Given the description of an element on the screen output the (x, y) to click on. 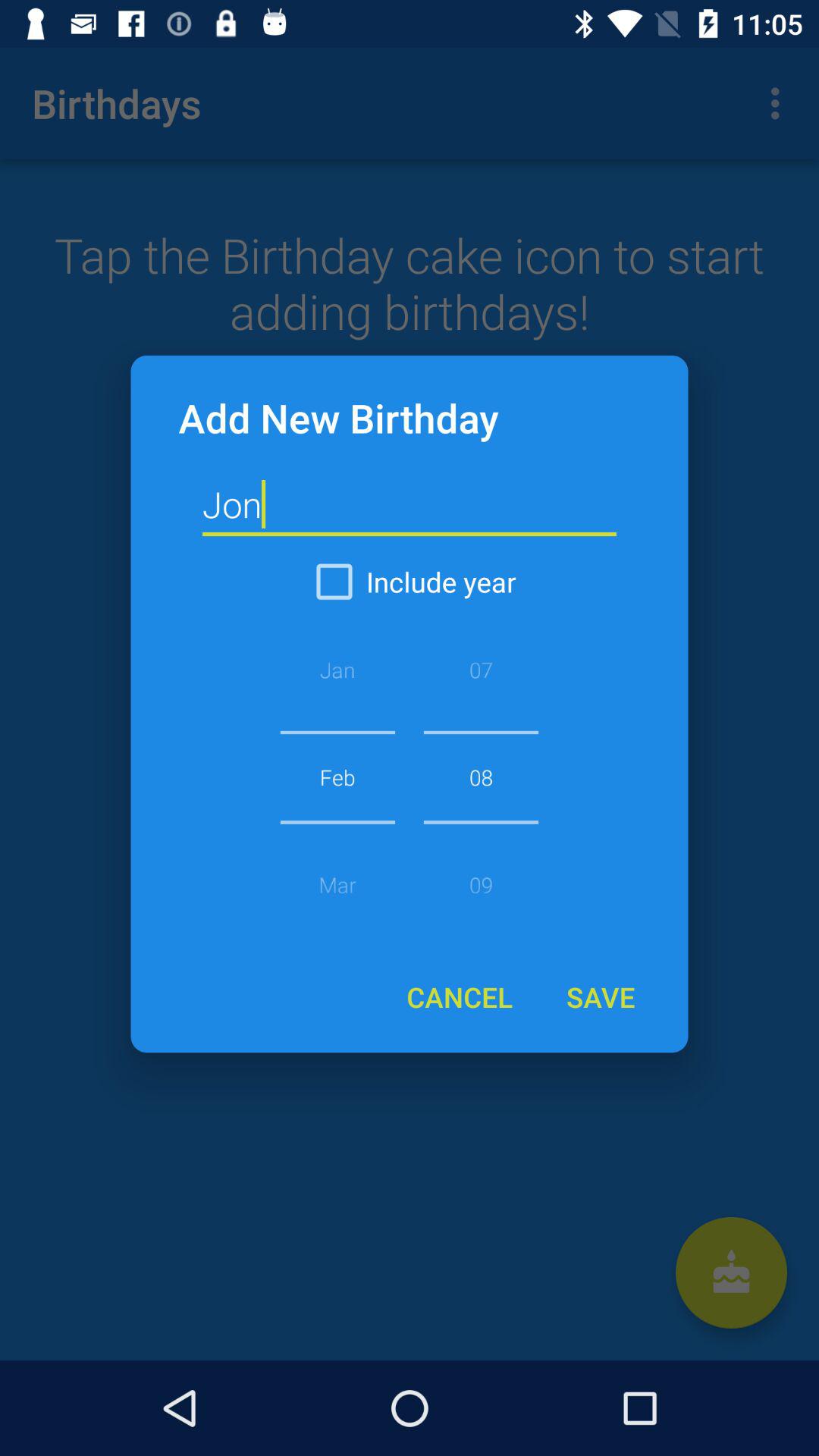
tap the item below the add new birthday icon (409, 504)
